Given the description of an element on the screen output the (x, y) to click on. 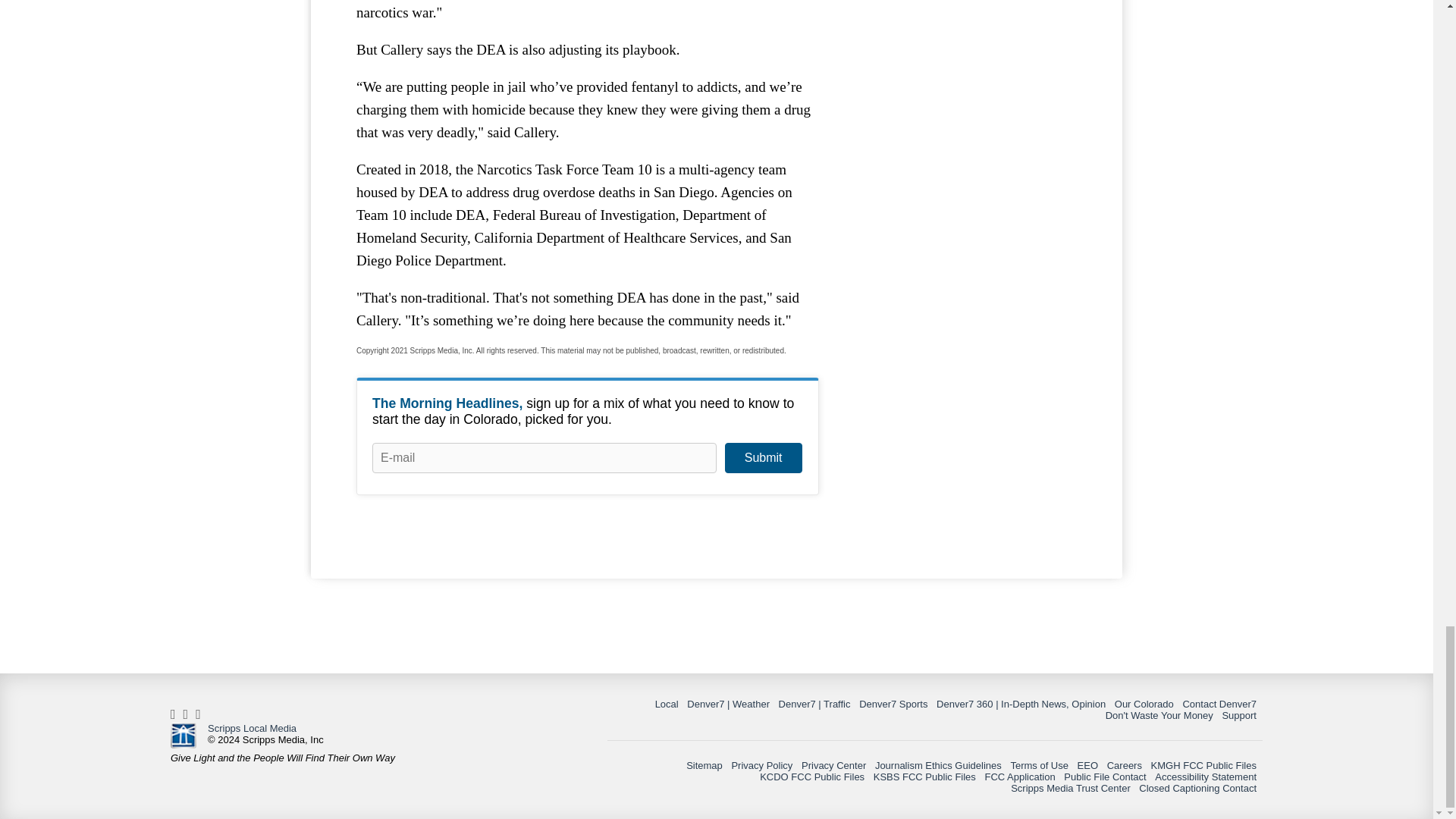
Submit (763, 458)
